Given the description of an element on the screen output the (x, y) to click on. 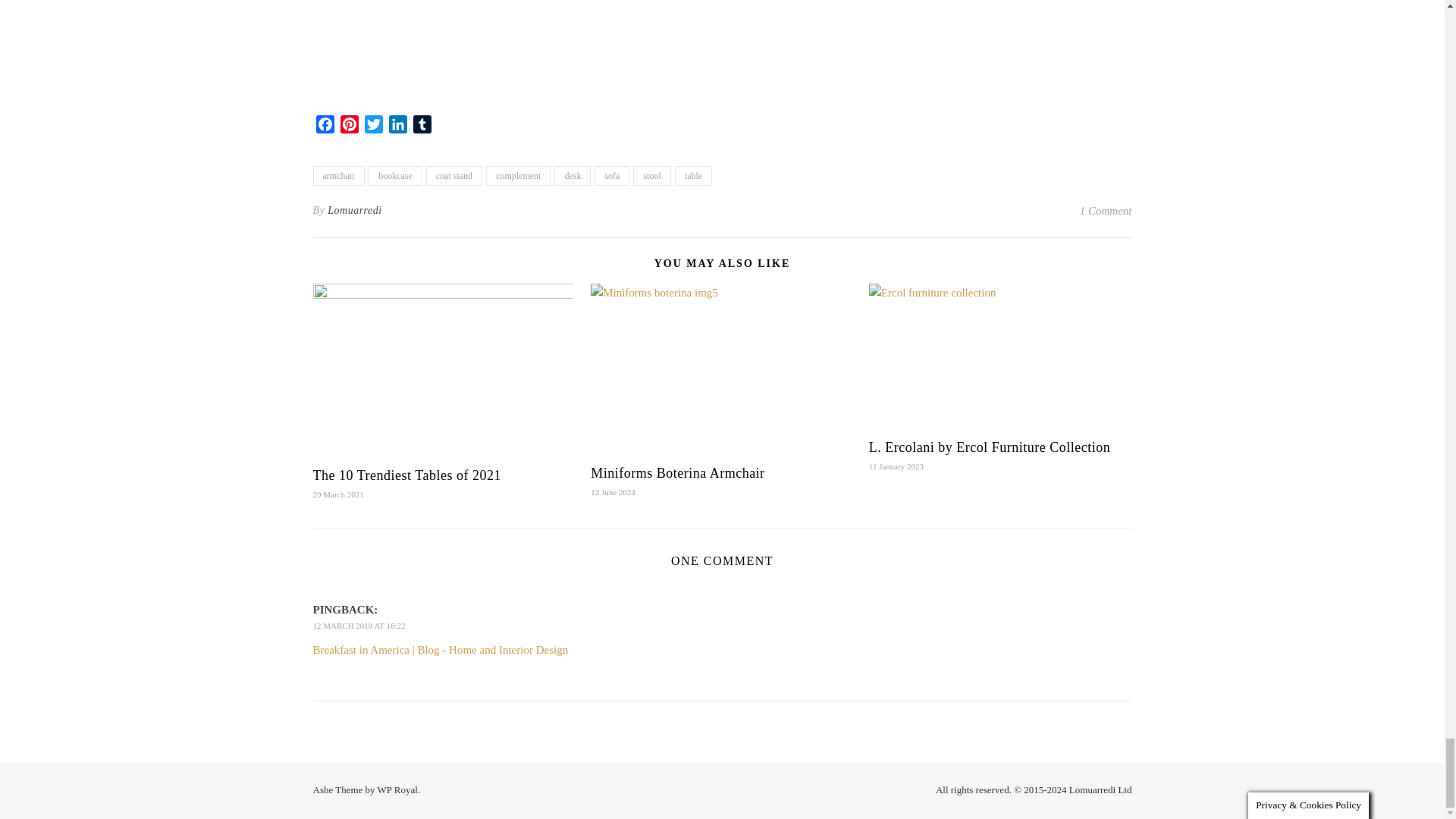
Pinterest (348, 126)
Lomuarredi (354, 210)
sofa (611, 175)
LinkedIn (397, 126)
Pinterest (348, 126)
Tumblr (421, 126)
stool (651, 175)
Twitter (373, 126)
Facebook (324, 126)
coat stand (453, 175)
table (693, 175)
Posts by Lomuarredi (354, 210)
Tumblr (421, 126)
1 Comment (1106, 210)
Facebook (324, 126)
